Given the description of an element on the screen output the (x, y) to click on. 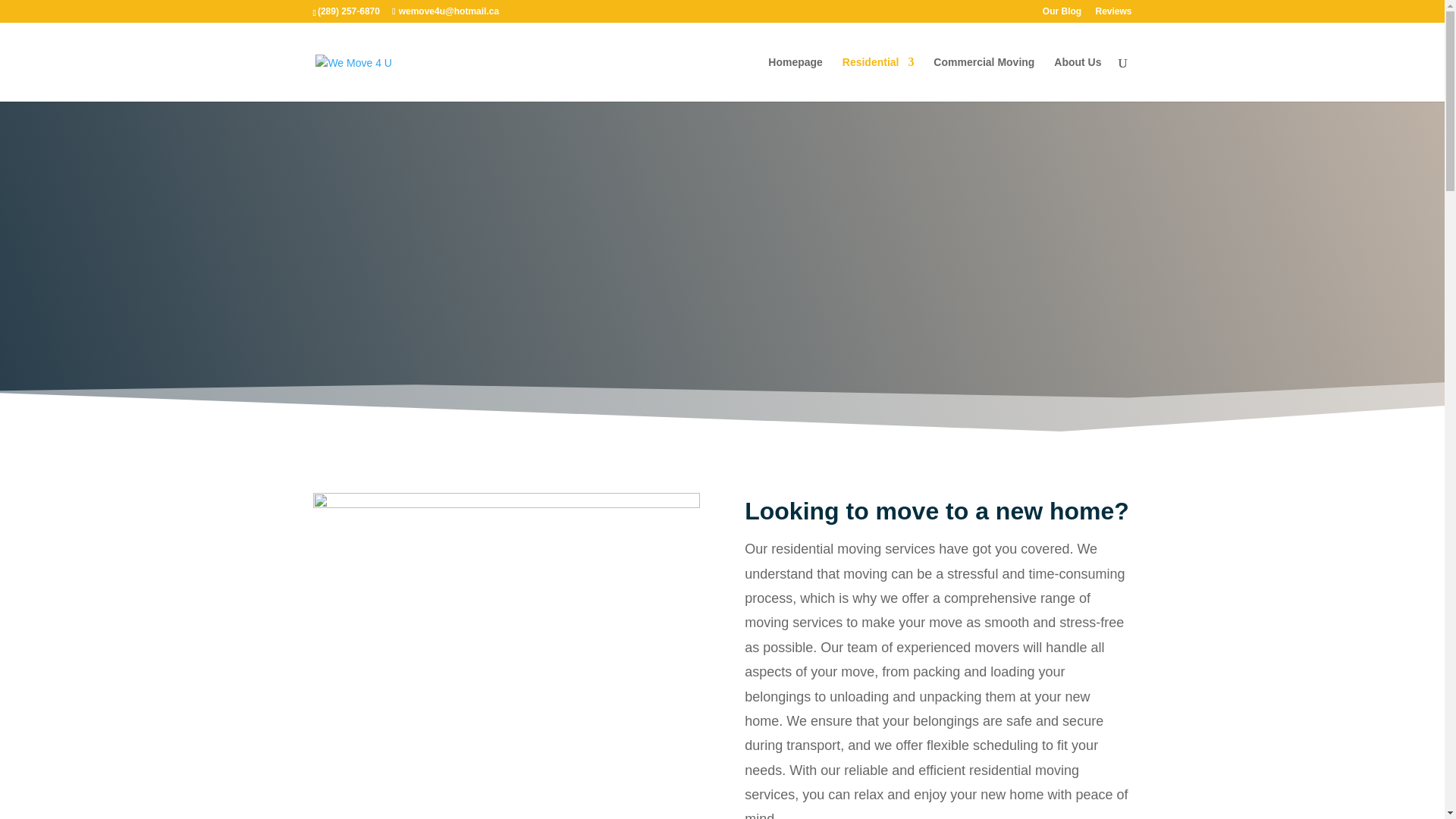
About Us (1077, 78)
Homepage (795, 78)
Reviews (1112, 14)
Our Blog (1061, 14)
Residential (878, 78)
Commercial Moving (983, 78)
